Given the description of an element on the screen output the (x, y) to click on. 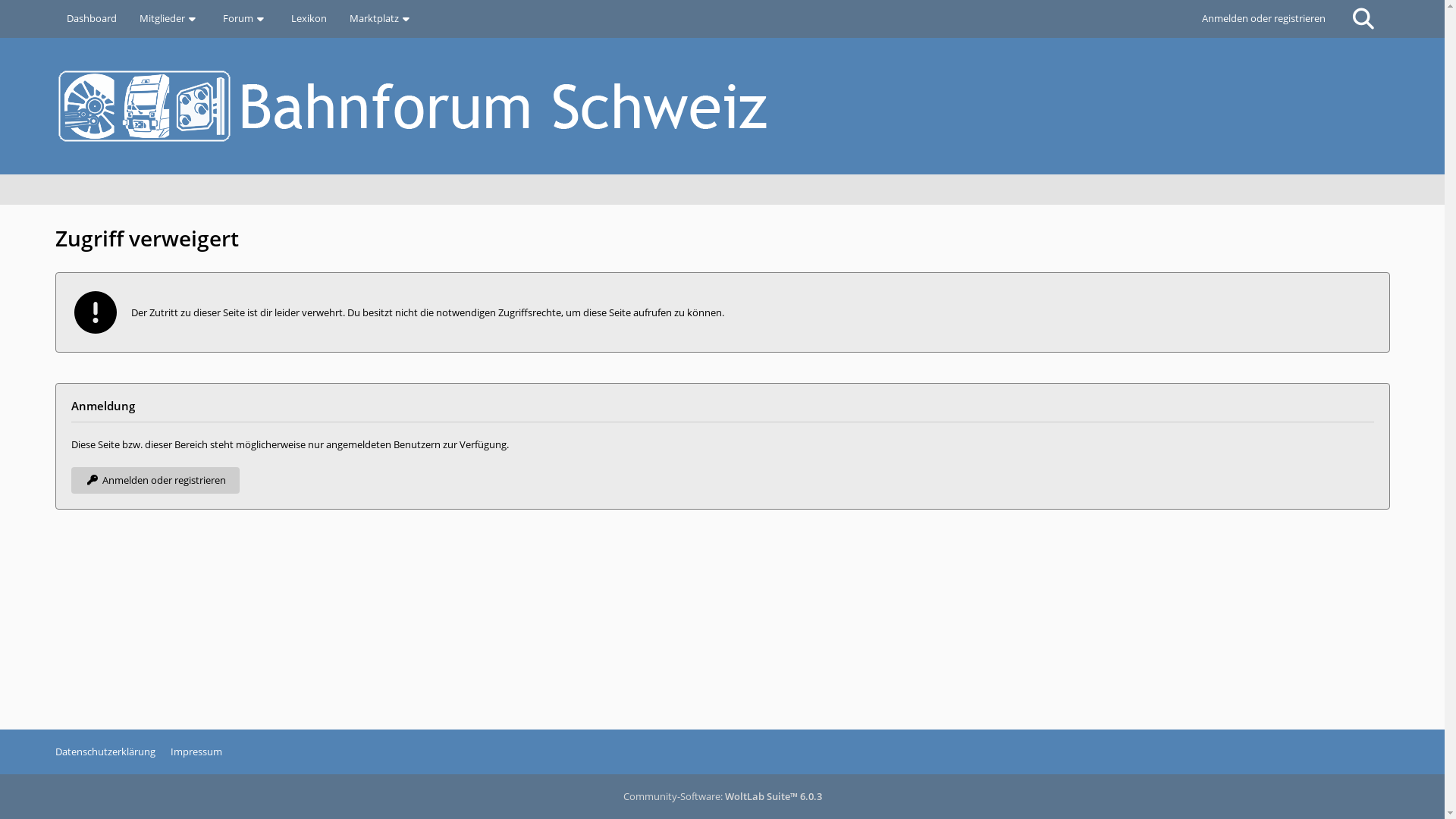
Impressum Element type: text (195, 751)
Dashboard Element type: text (90, 18)
Lexikon Element type: text (308, 18)
Anmelden oder registrieren Element type: text (1263, 18)
